Given the description of an element on the screen output the (x, y) to click on. 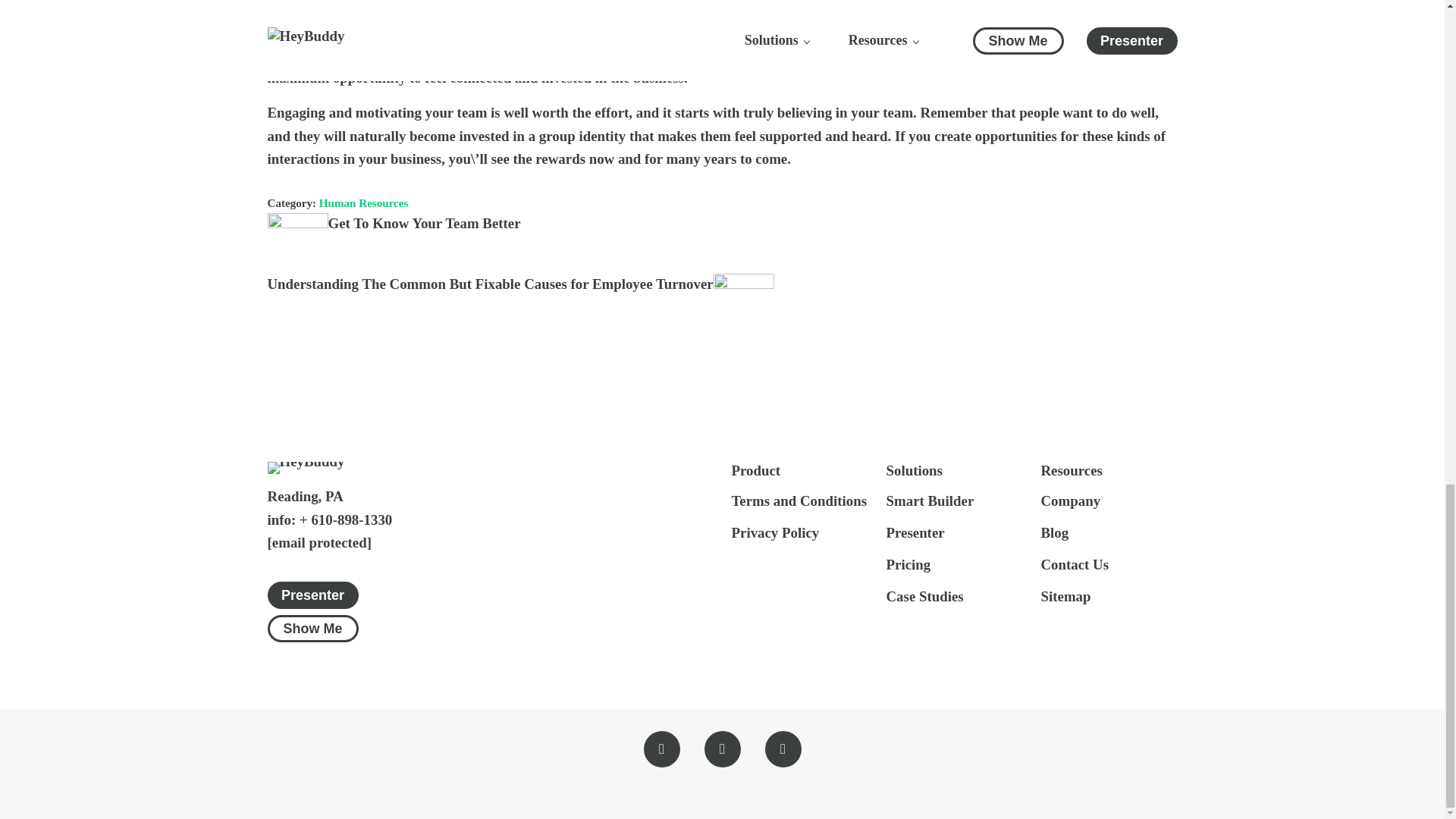
Company (1070, 501)
Blog (1054, 533)
Show Me (312, 628)
Presenter (392, 222)
Privacy Policy (914, 533)
Contact Us (774, 533)
Presenter (1074, 565)
Pricing (312, 595)
